Given the description of an element on the screen output the (x, y) to click on. 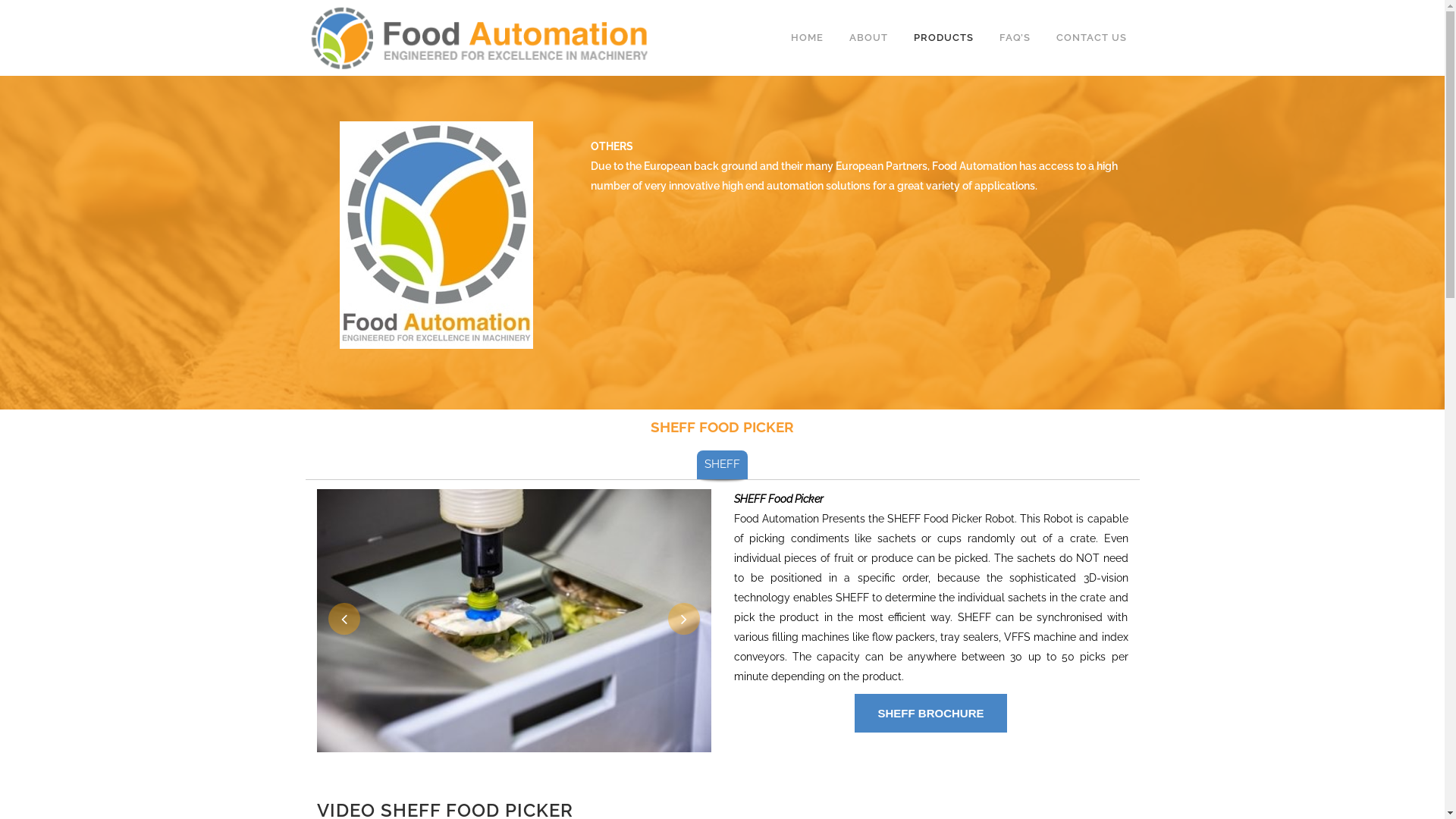
SHEFF BROCHURE Element type: text (930, 712)
SHEFF Element type: text (721, 463)
PRODUCTS Element type: text (943, 37)
HOME Element type: text (807, 37)
ABOUT Element type: text (867, 37)
CONTACT US Element type: text (1091, 37)
